Given the description of an element on the screen output the (x, y) to click on. 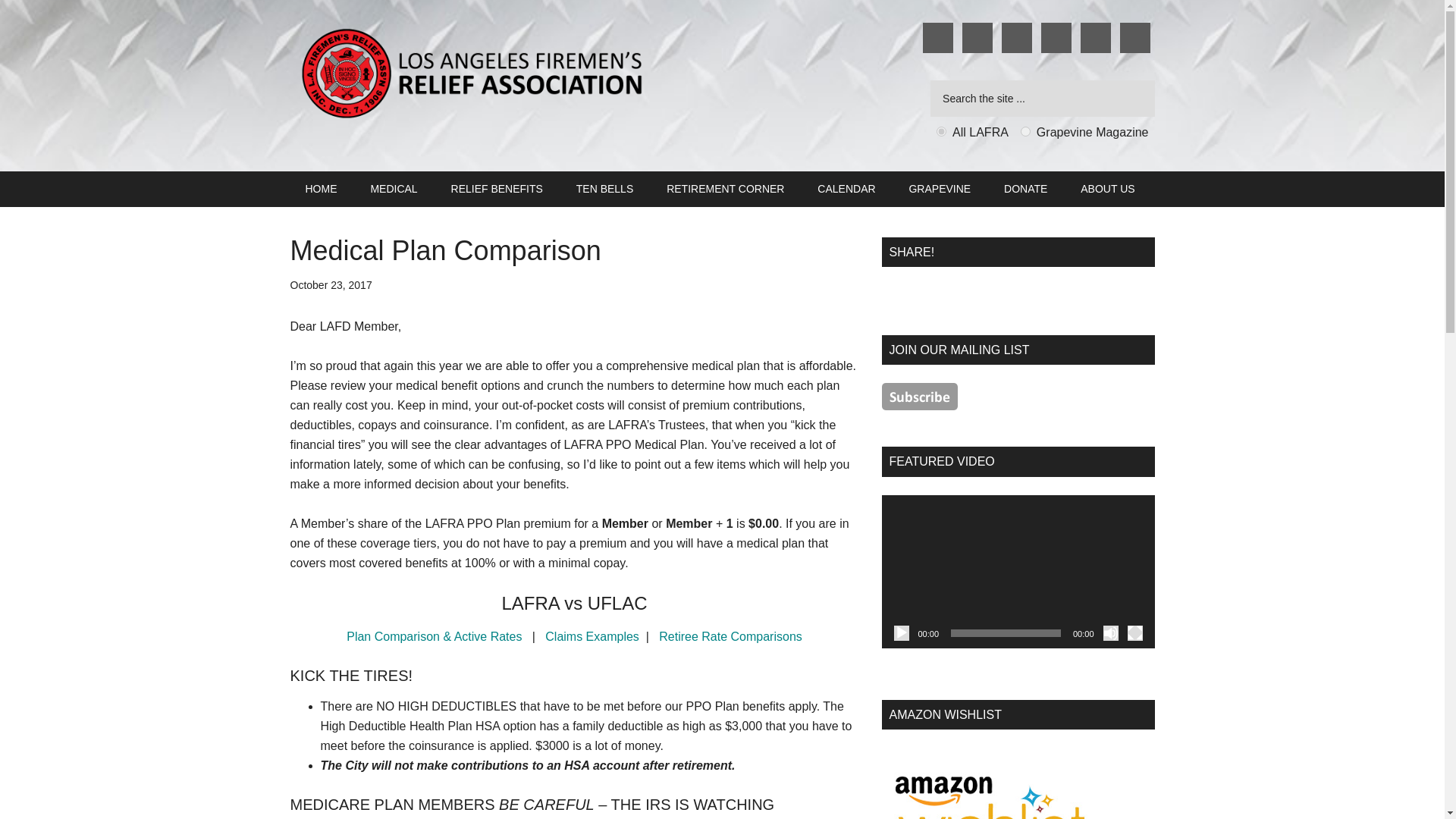
HOME (320, 188)
grapevine (1025, 131)
MEDICAL (393, 188)
Mute (1110, 632)
Fullscreen (1133, 632)
Play (900, 632)
